Given the description of an element on the screen output the (x, y) to click on. 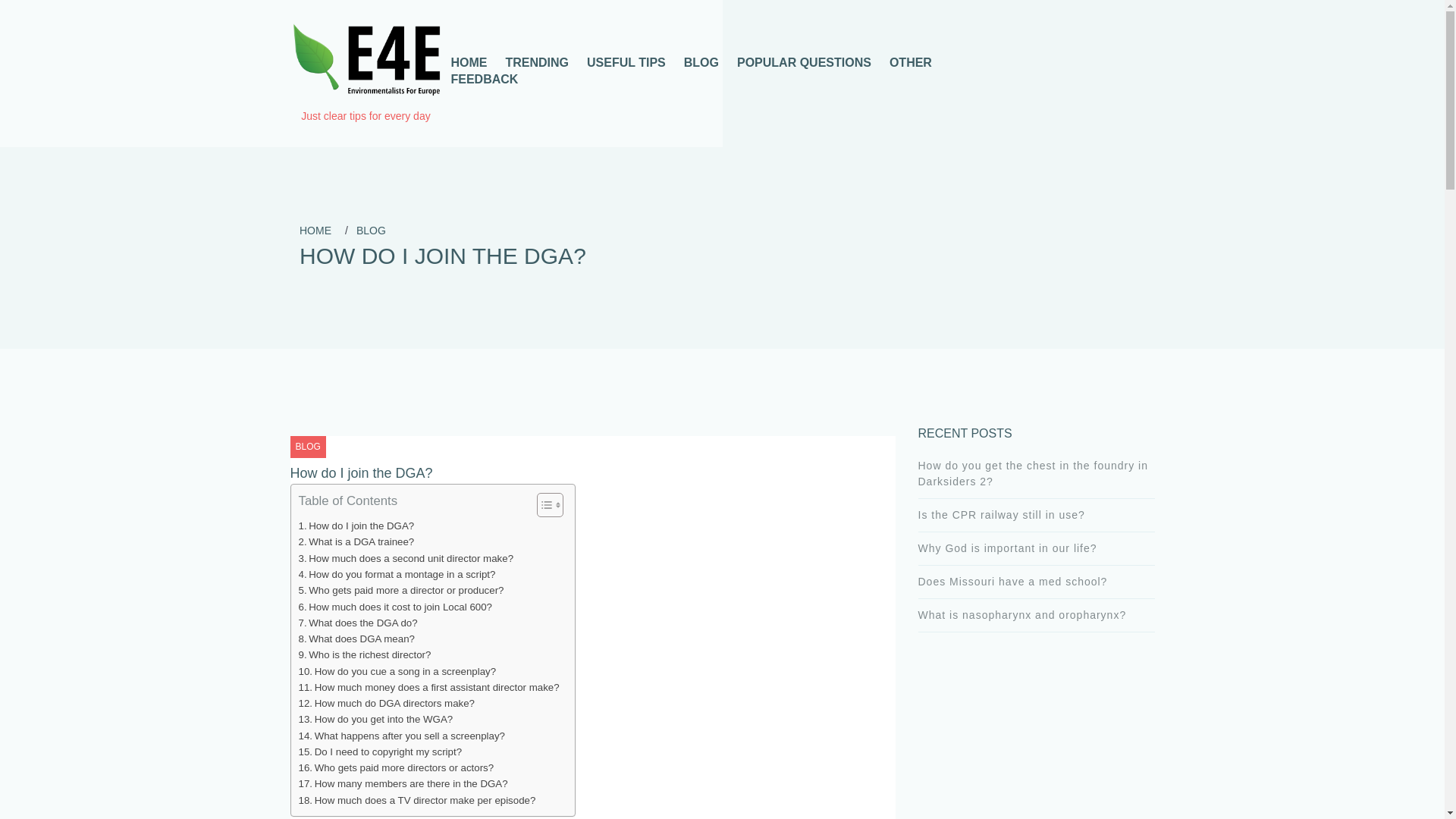
What is a DGA trainee? (356, 541)
OTHER (910, 62)
USEFUL TIPS (625, 62)
How much does a second unit director make? (405, 558)
How much money does a first assistant director make? (428, 687)
HOME (315, 230)
POPULAR QUESTIONS (803, 62)
TRENDING (537, 62)
FEEDBACK (484, 79)
How do you format a montage in a script? (397, 574)
Who gets paid more a director or producer? (400, 590)
How do you format a montage in a script? (397, 574)
Who gets paid more directors or actors? (396, 767)
What happens after you sell a screenplay? (401, 735)
What is a DGA trainee? (356, 541)
